Given the description of an element on the screen output the (x, y) to click on. 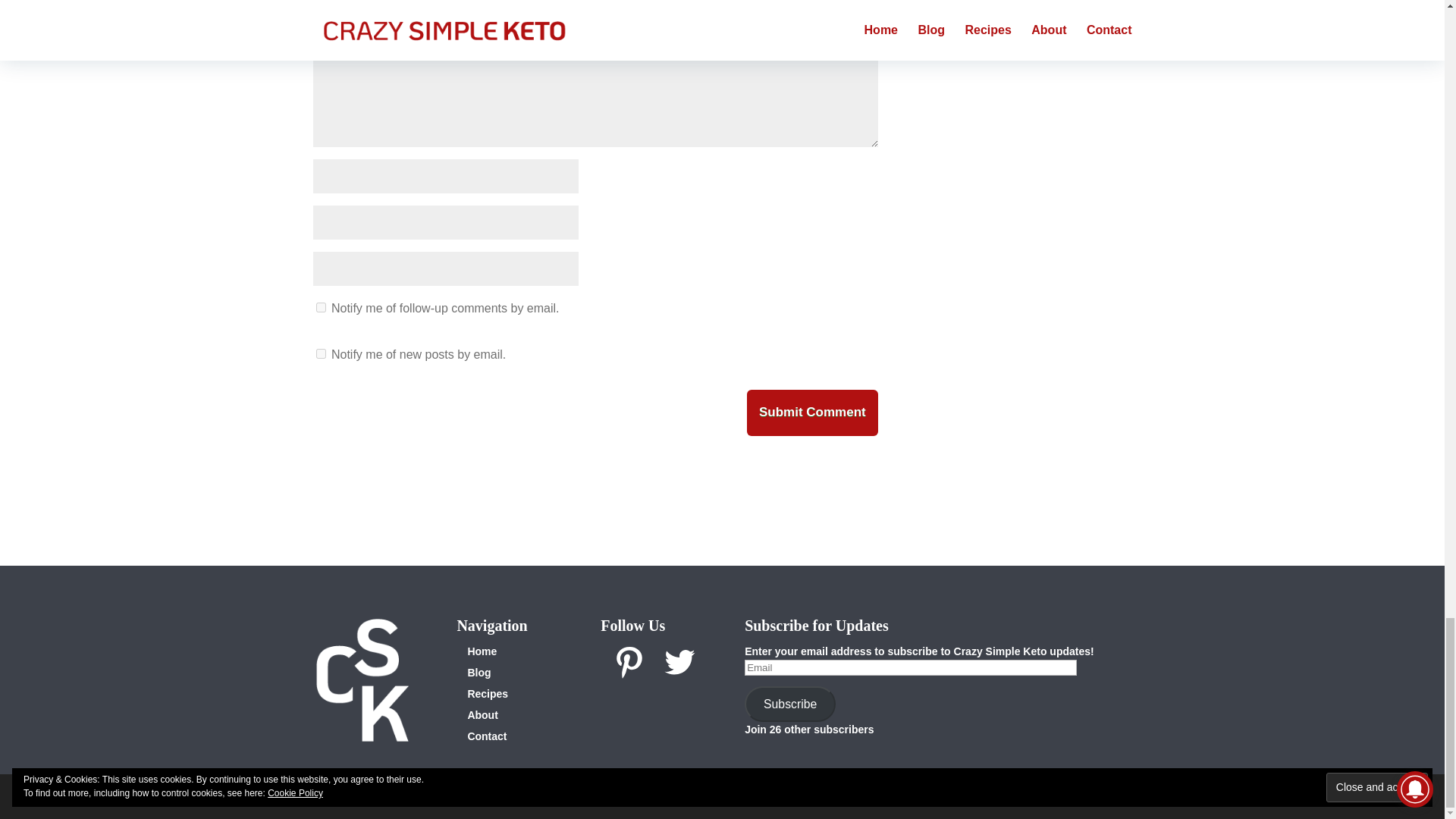
Submit Comment (811, 412)
subscribe (319, 307)
subscribe (319, 353)
